Given the description of an element on the screen output the (x, y) to click on. 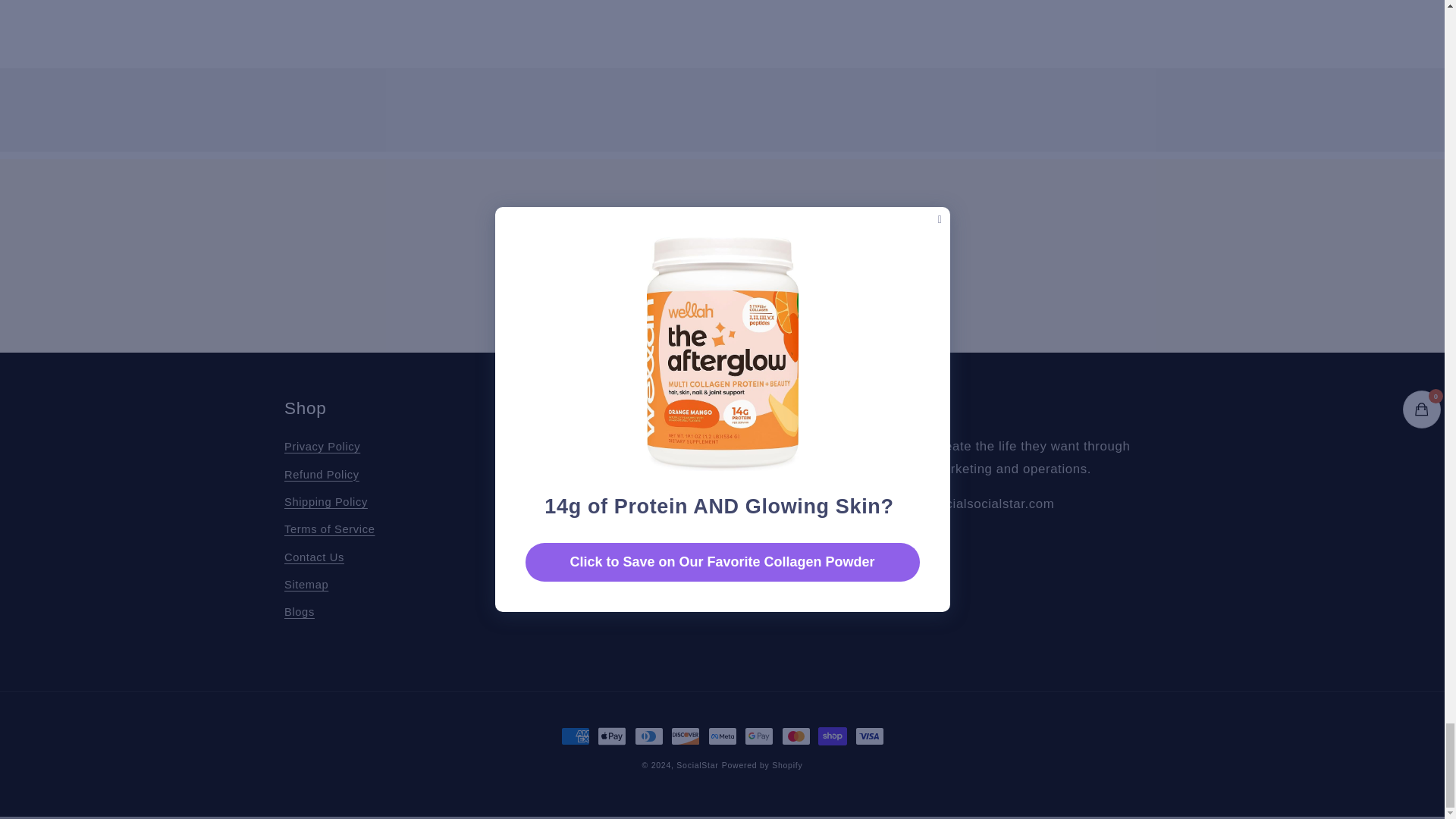
Blogs (298, 612)
Powered by Shopify (762, 764)
Refund Policy (321, 474)
Sitemap (306, 584)
Privacy Policy (321, 449)
Contact Us (313, 556)
Shipping Policy (325, 502)
Terms of Service (328, 529)
SocialStar (697, 764)
